Given the description of an element on the screen output the (x, y) to click on. 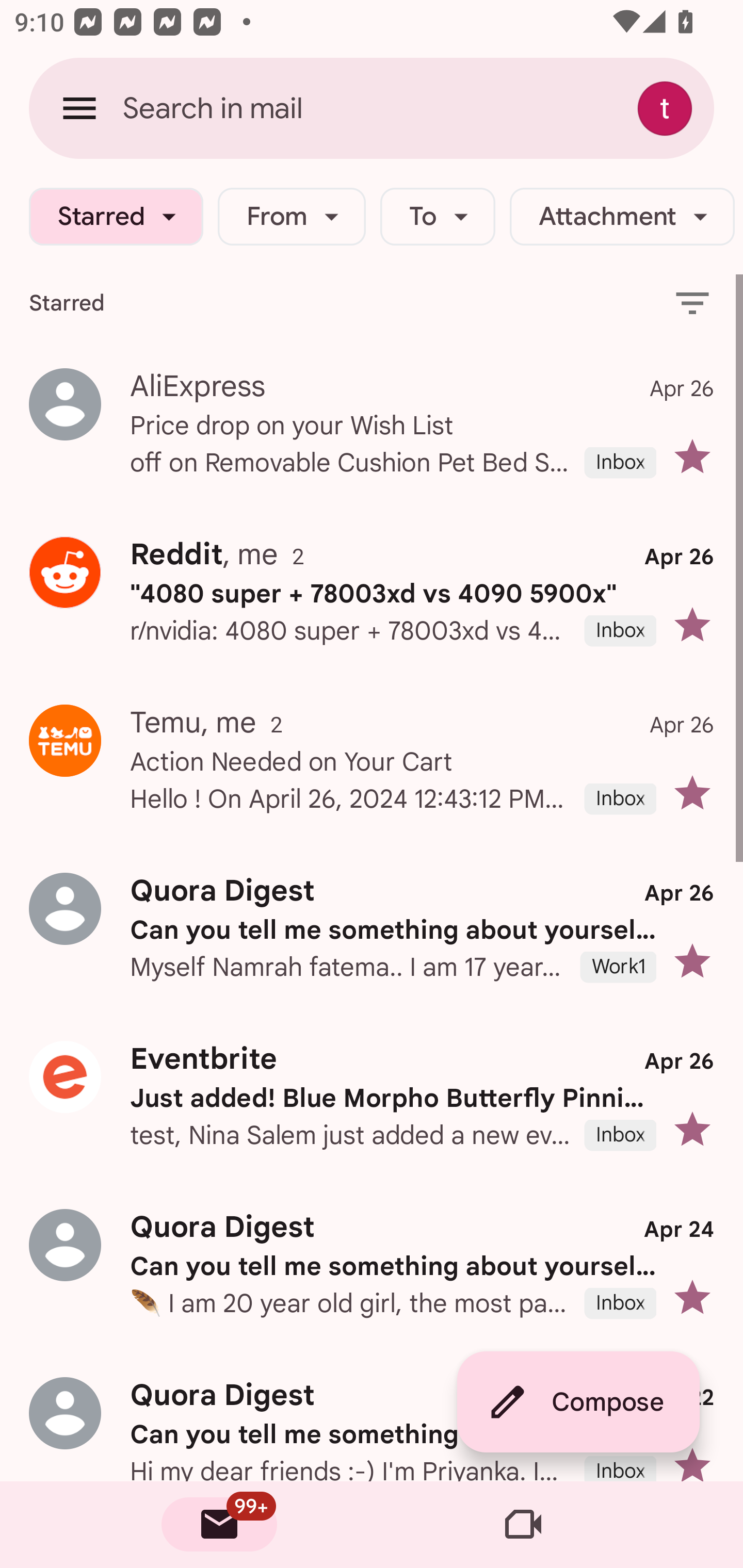
Open navigation drawer (79, 108)
Starred (115, 217)
From (291, 217)
To (437, 217)
Attachment (621, 217)
Filter icon (692, 302)
Compose (577, 1401)
Meet (523, 1524)
